Given the description of an element on the screen output the (x, y) to click on. 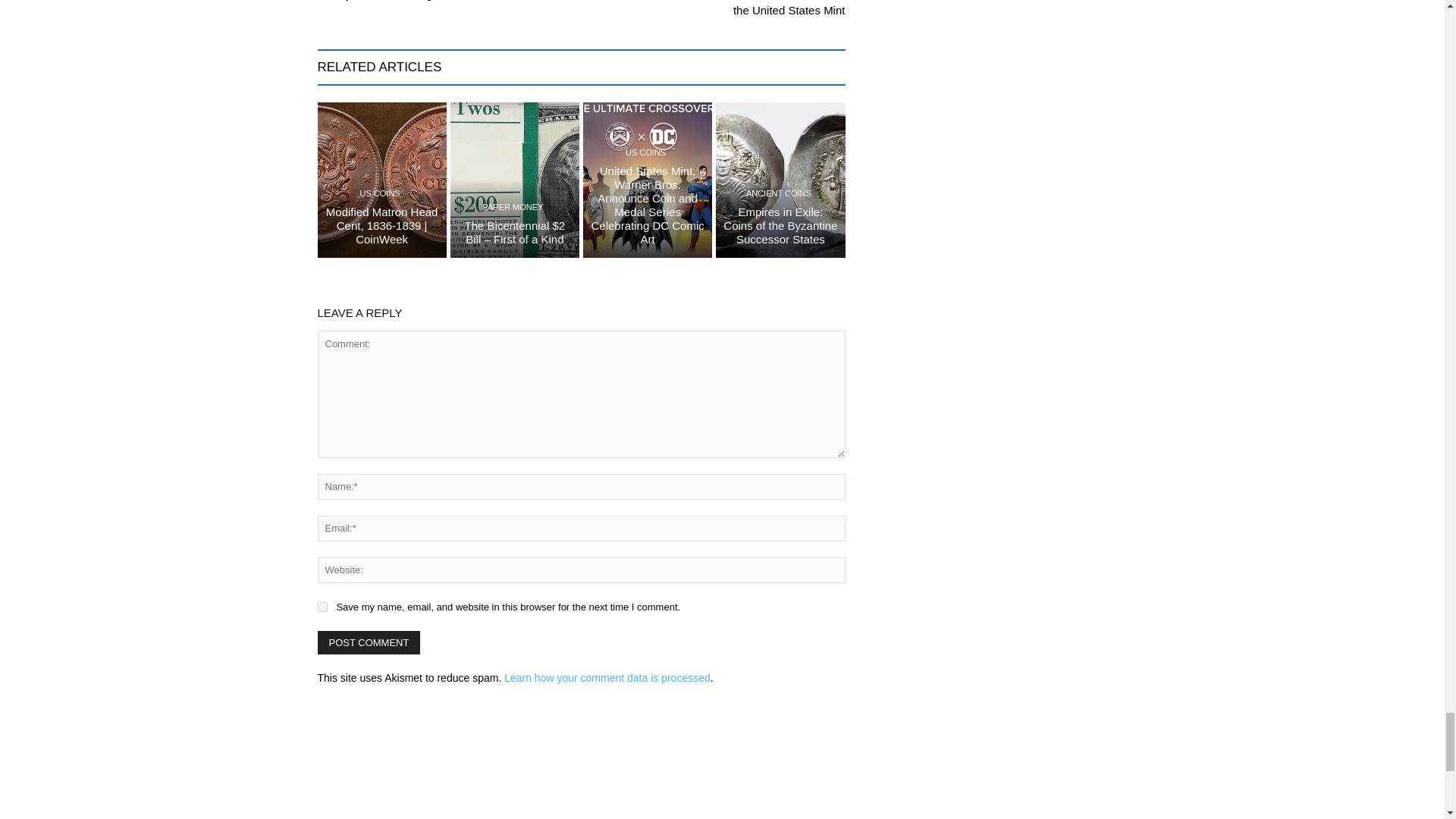
yes (321, 606)
Empires in Exile: Coins of the Byzantine Successor States (780, 225)
Post Comment (368, 642)
Empires in Exile: Coins of the Byzantine Successor States (780, 179)
